Given the description of an element on the screen output the (x, y) to click on. 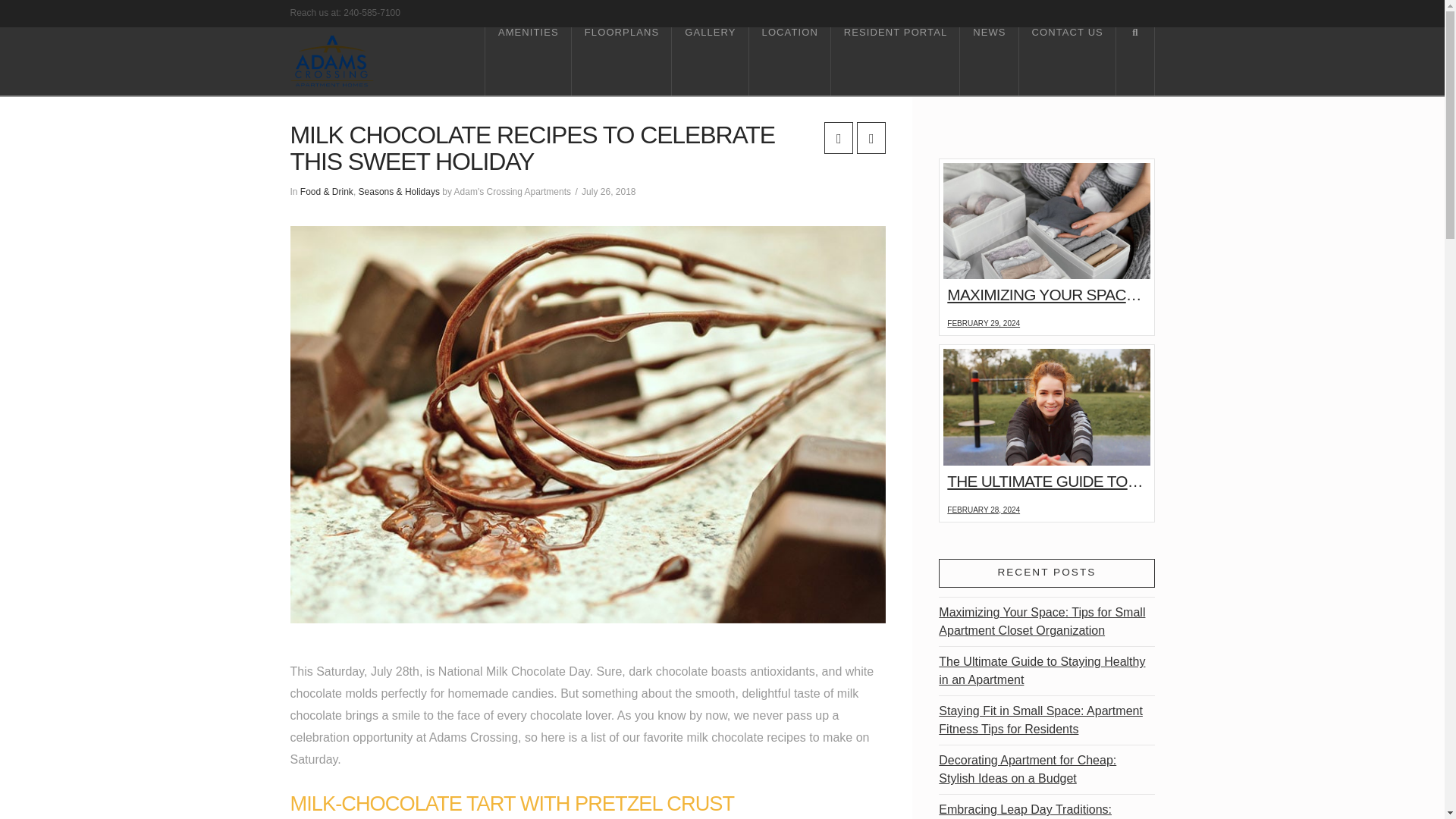
LOCATION (790, 61)
AMENITIES (528, 61)
RESIDENT PORTAL (895, 61)
MILK-CHOCOLATE TART WITH PRETZEL CRUST (511, 802)
GALLERY (709, 61)
240-585-7100 (371, 12)
CONTACT US (1067, 61)
FLOORPLANS (621, 61)
